Given the description of an element on the screen output the (x, y) to click on. 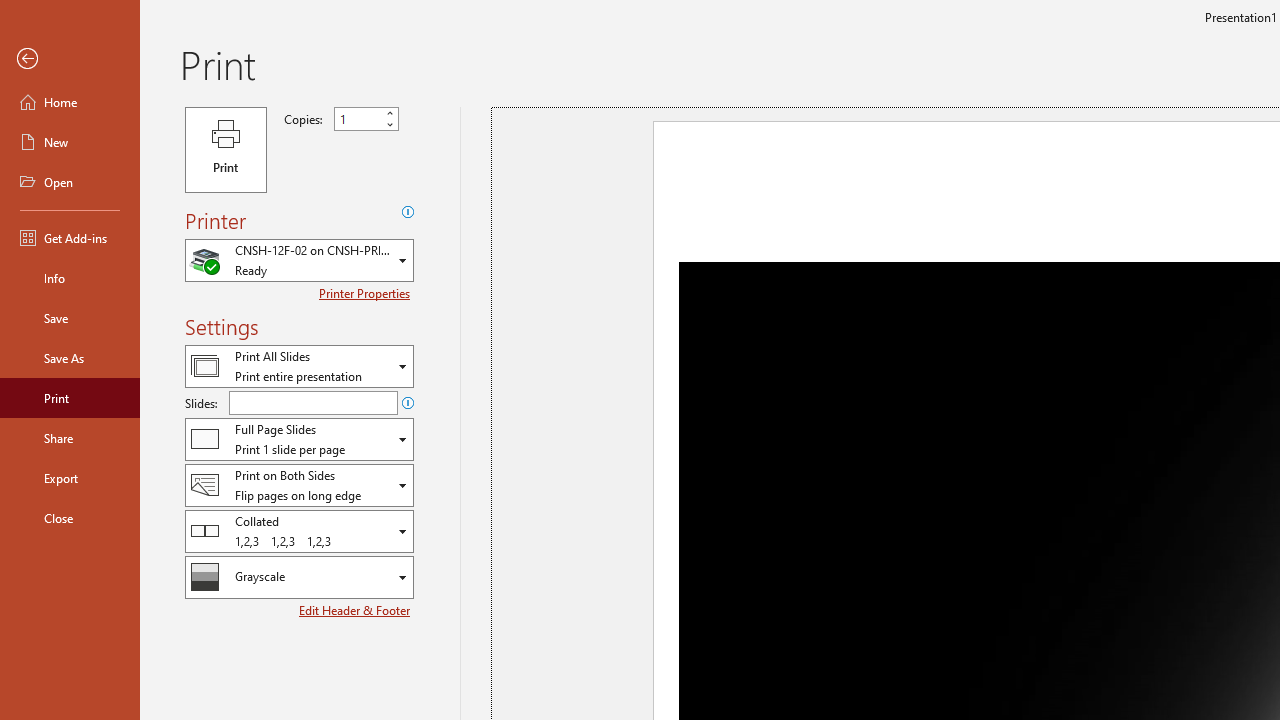
Print (69, 398)
Collation (299, 530)
Two-Sided Printing (299, 484)
Slides (313, 402)
Copies (358, 119)
Print What (299, 366)
Edit Header & Footer (356, 610)
Save As (69, 357)
Which Printer (299, 260)
